Given the description of an element on the screen output the (x, y) to click on. 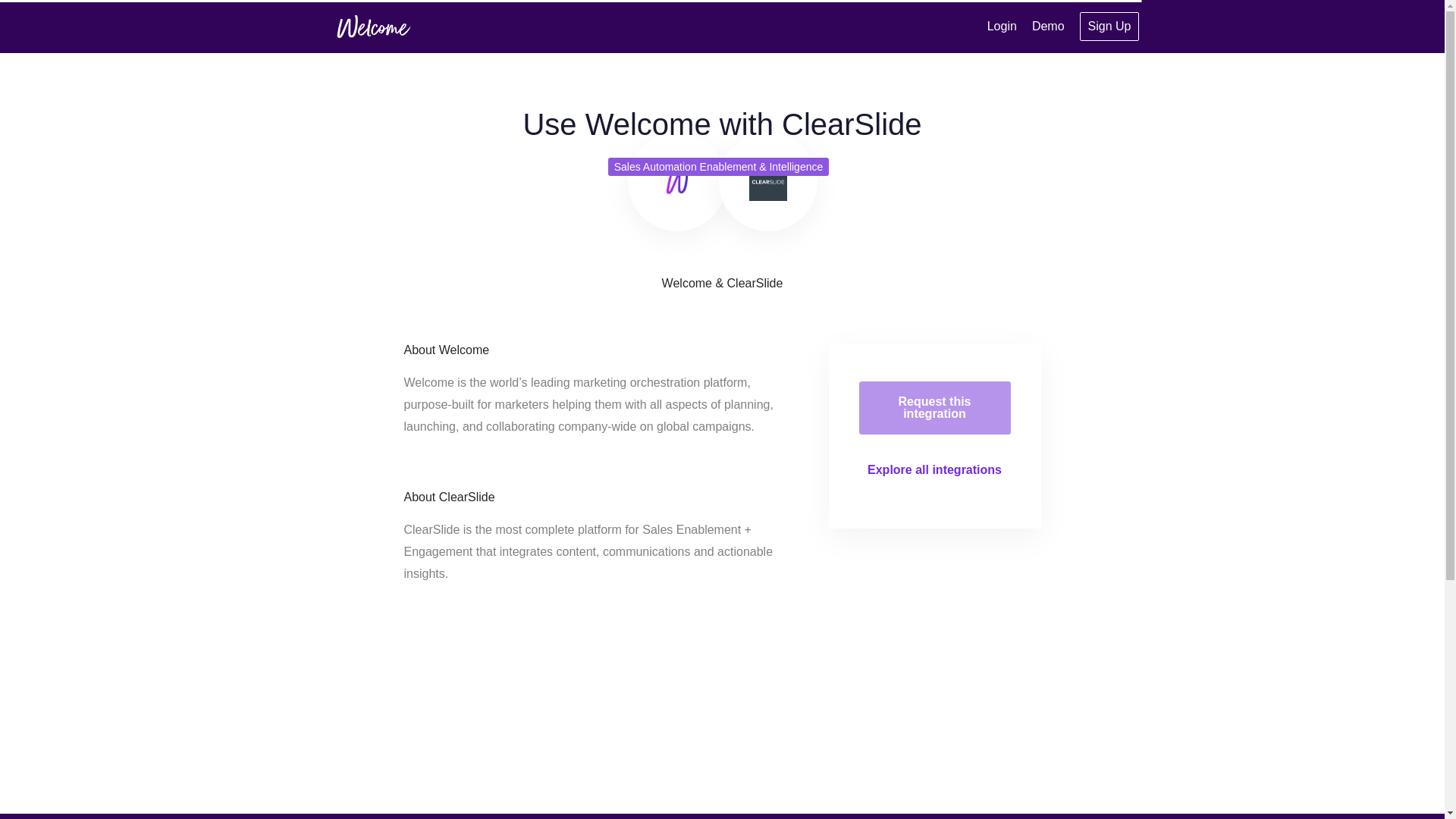
Sign Up (1110, 26)
ClearSlide (768, 181)
Welcome (676, 181)
Demo (1048, 25)
Welcome (372, 26)
Request this integration (934, 407)
Explore all integrations (934, 469)
Login (1001, 25)
